Given the description of an element on the screen output the (x, y) to click on. 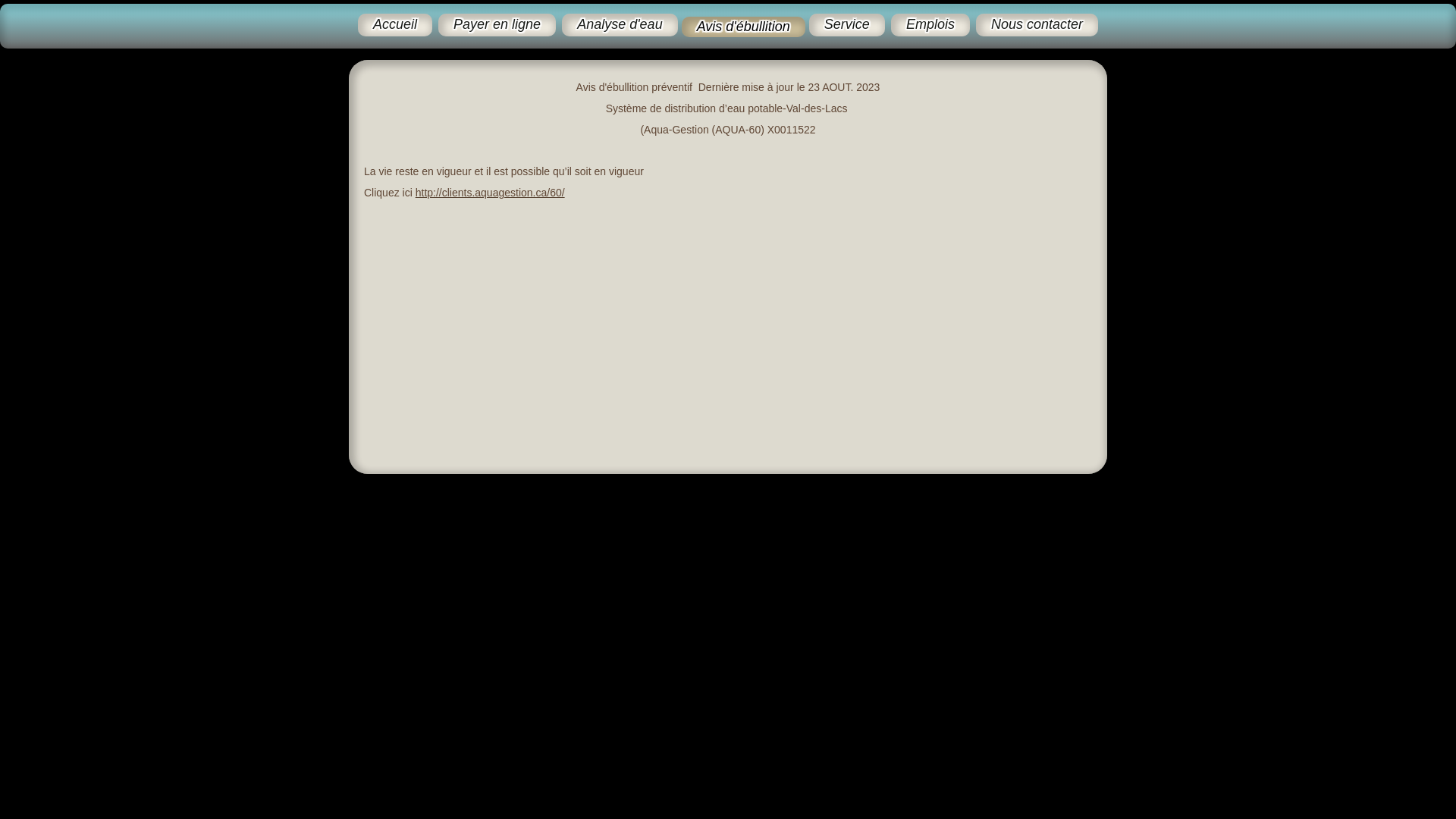
Analyse d'eau Element type: text (619, 24)
Emplois Element type: text (930, 24)
Nous contacter Element type: text (1036, 24)
Payer en ligne Element type: text (496, 24)
Accueil Element type: text (394, 24)
Service Element type: text (846, 24)
http://clients.aquagestion.ca/60/ Element type: text (489, 192)
